Given the description of an element on the screen output the (x, y) to click on. 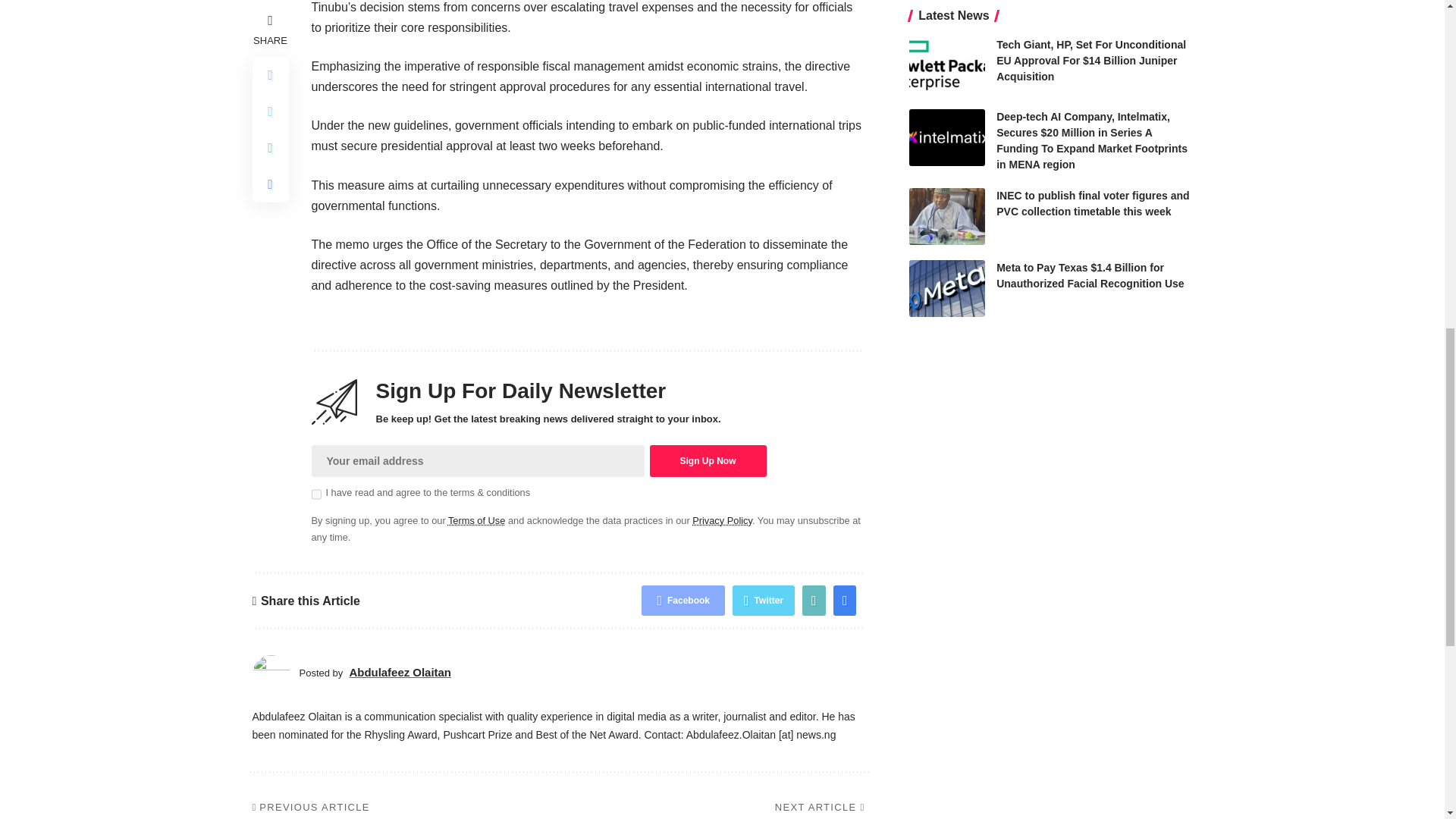
Sign Up Now (707, 460)
